Given the description of an element on the screen output the (x, y) to click on. 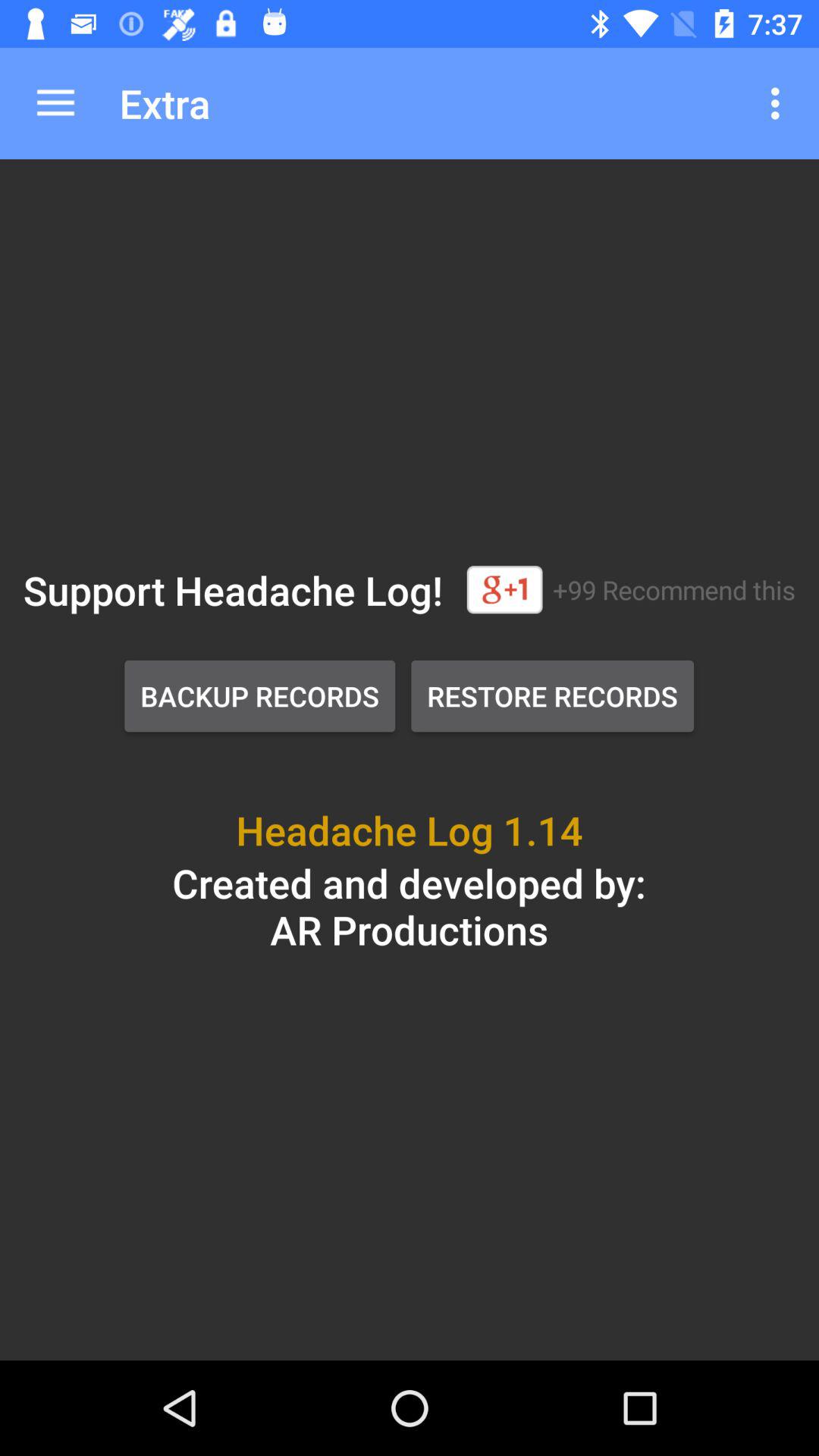
turn on icon above the headache log 1 item (259, 695)
